Given the description of an element on the screen output the (x, y) to click on. 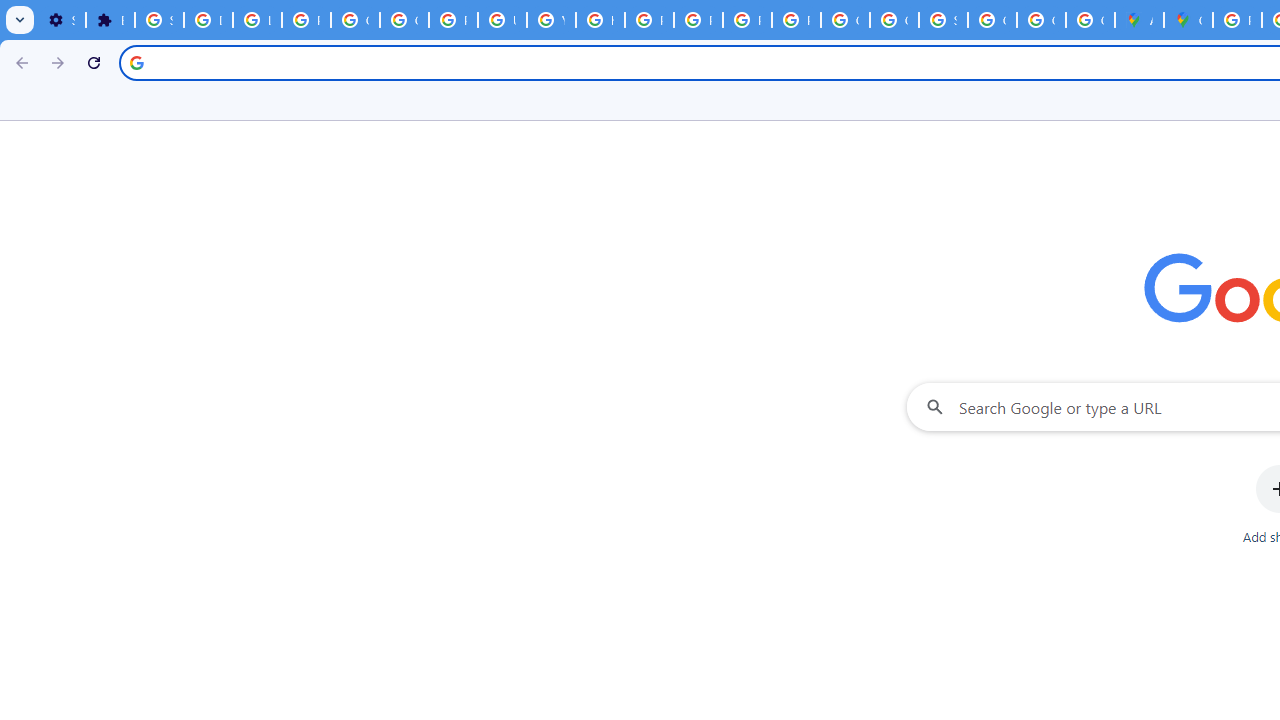
Google Maps (1188, 20)
